Given the description of an element on the screen output the (x, y) to click on. 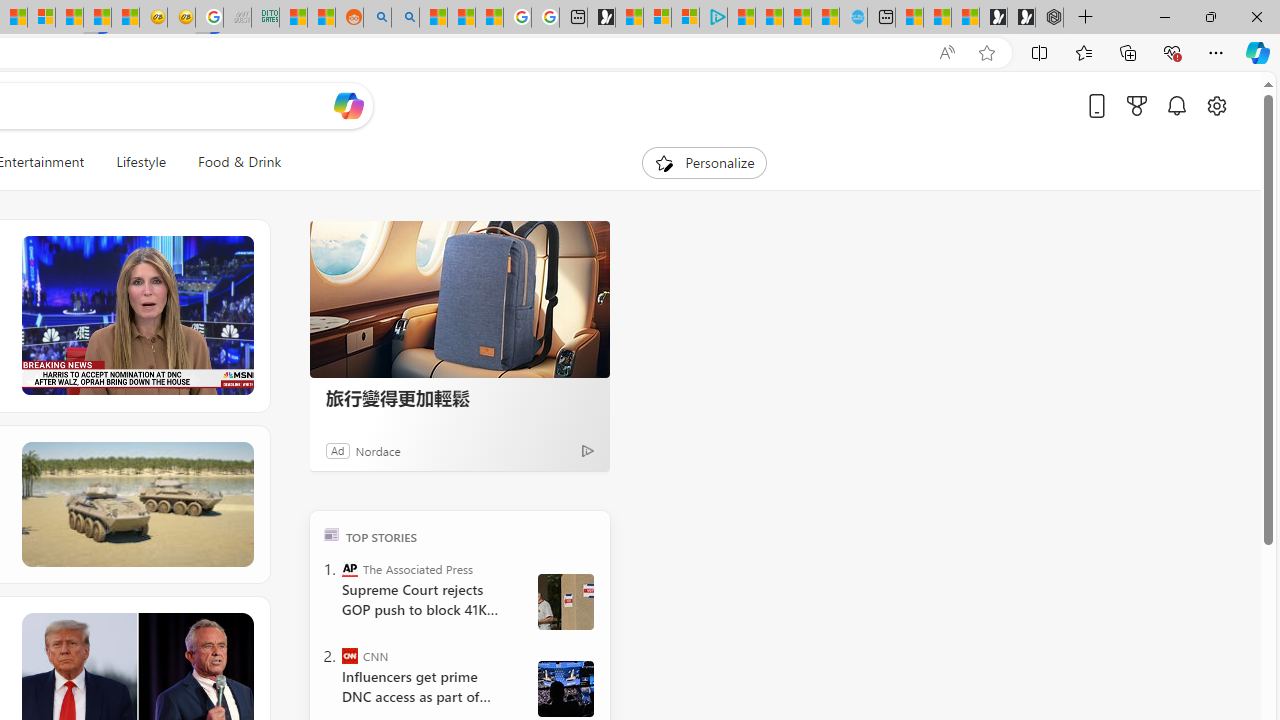
Open settings (1216, 105)
 ATS_2336.jpg (565, 688)
Lifestyle (140, 162)
Navy Quest (237, 17)
